Given the description of an element on the screen output the (x, y) to click on. 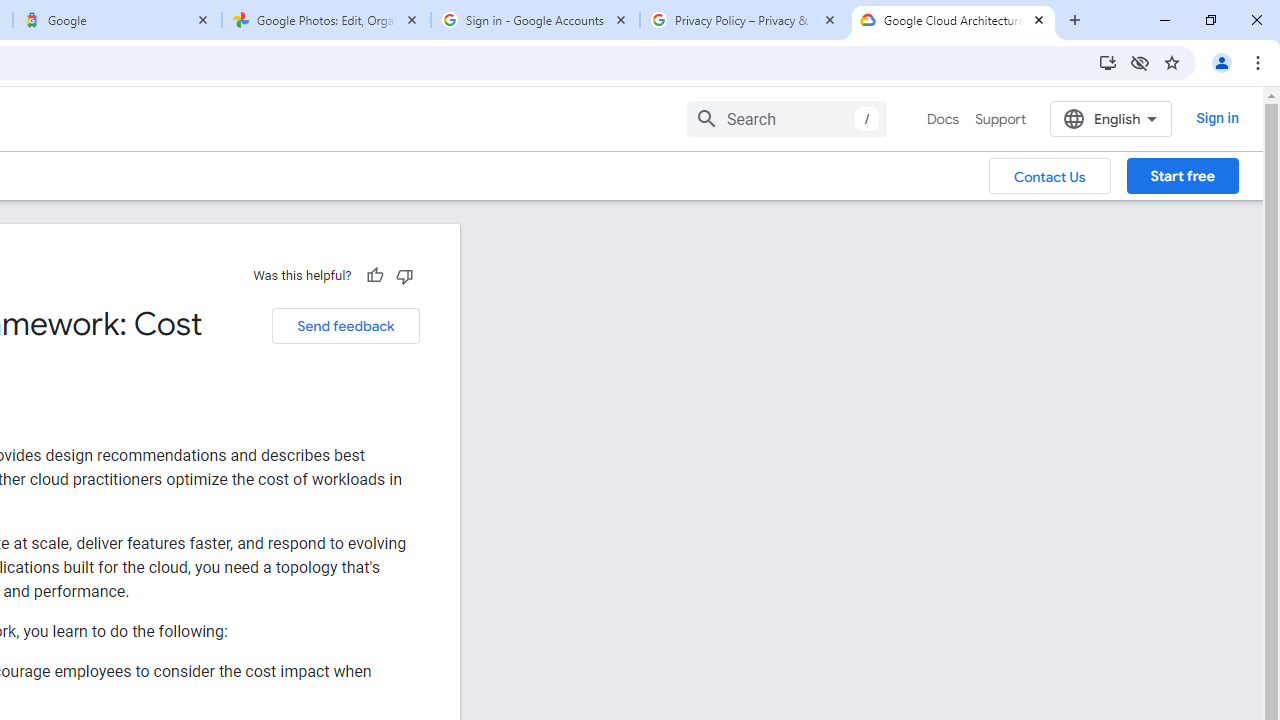
Start free (1182, 175)
Helpful (374, 275)
Send feedback (345, 326)
Contact Us (1050, 175)
Not helpful (404, 275)
English (1110, 118)
